Given the description of an element on the screen output the (x, y) to click on. 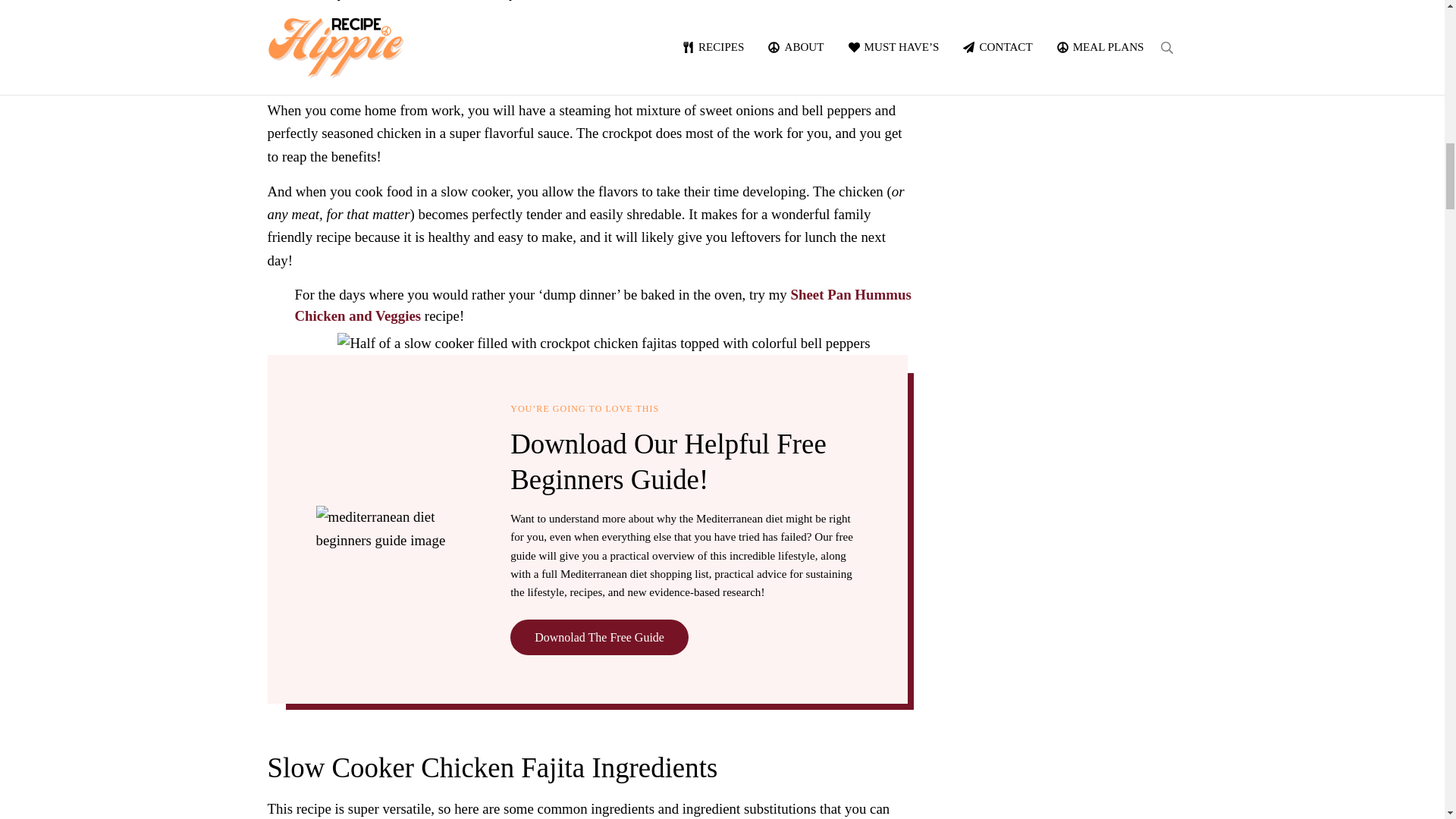
Downolad The Free Guide (599, 636)
Sheet Pan Hummus Chicken and Veggies (602, 304)
